Given the description of an element on the screen output the (x, y) to click on. 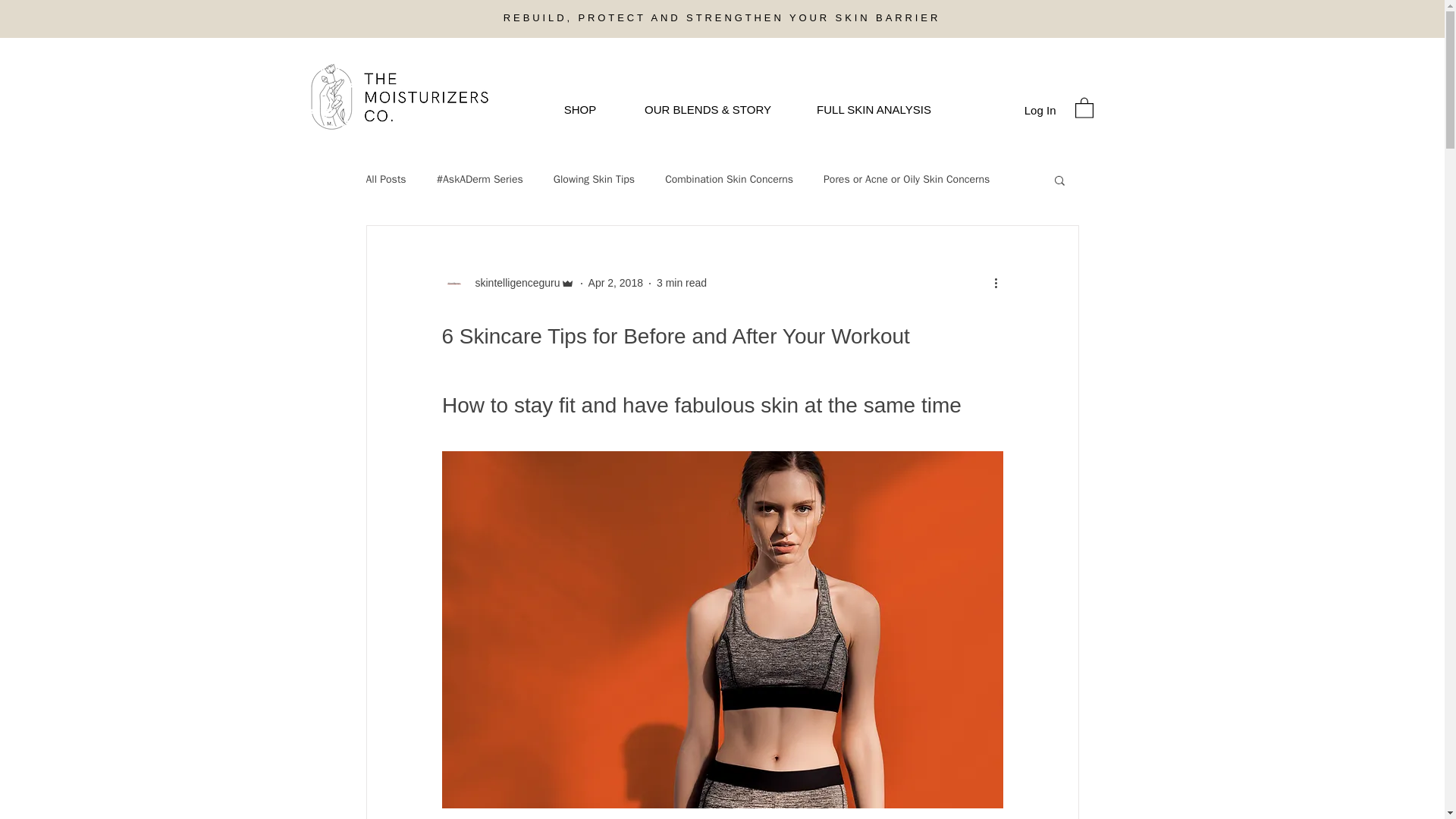
Pores or Acne or Oily Skin Concerns (907, 179)
skintelligenceguru (512, 283)
Apr 2, 2018 (615, 282)
FULL SKIN ANALYSIS (873, 109)
skintelligenceguru (507, 283)
All Posts (385, 179)
Combination Skin Concerns (729, 179)
3 min read (681, 282)
Log In (1040, 109)
Glowing Skin Tips (593, 179)
